Given the description of an element on the screen output the (x, y) to click on. 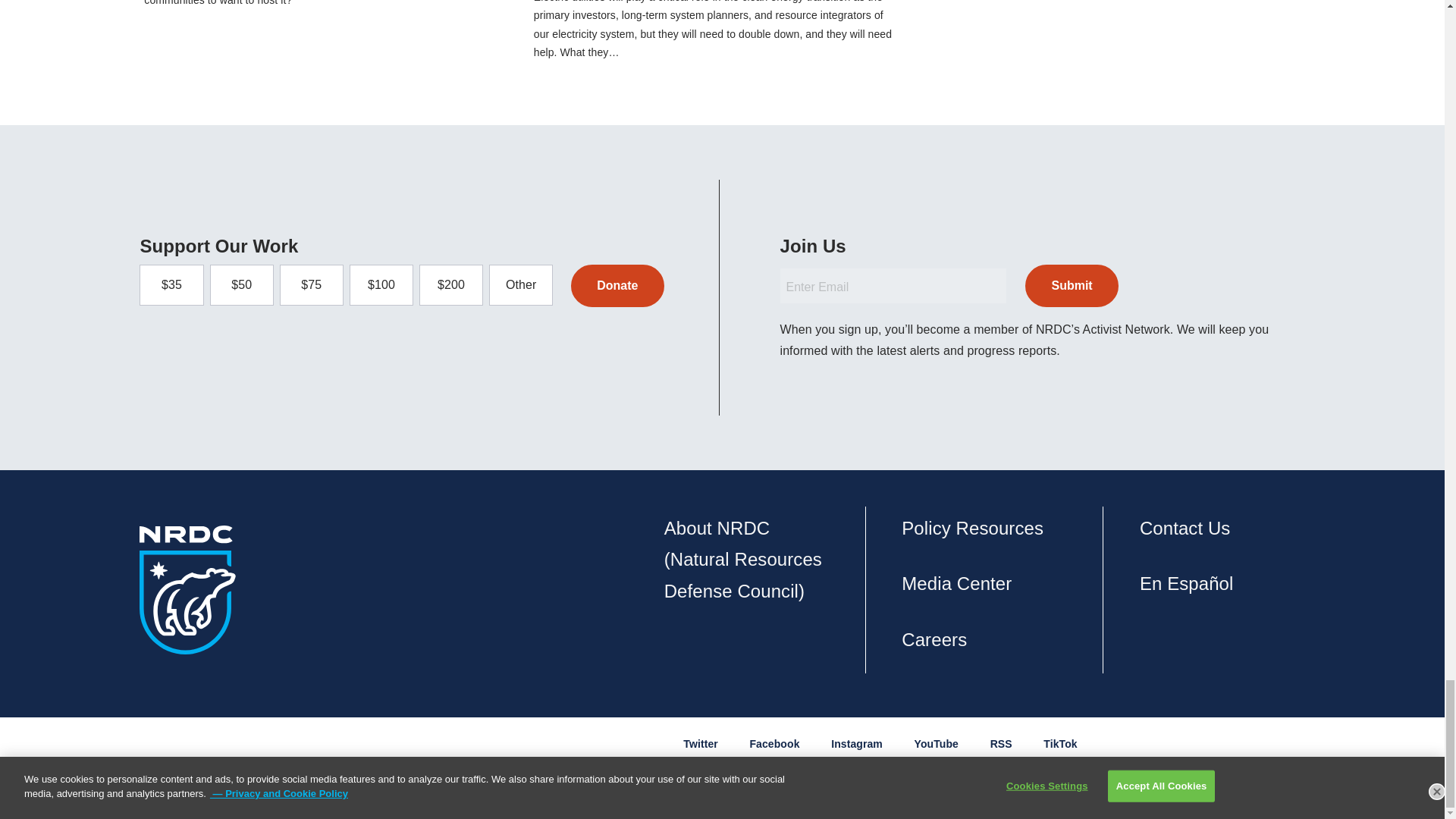
NRDC Logo (187, 589)
